Given the description of an element on the screen output the (x, y) to click on. 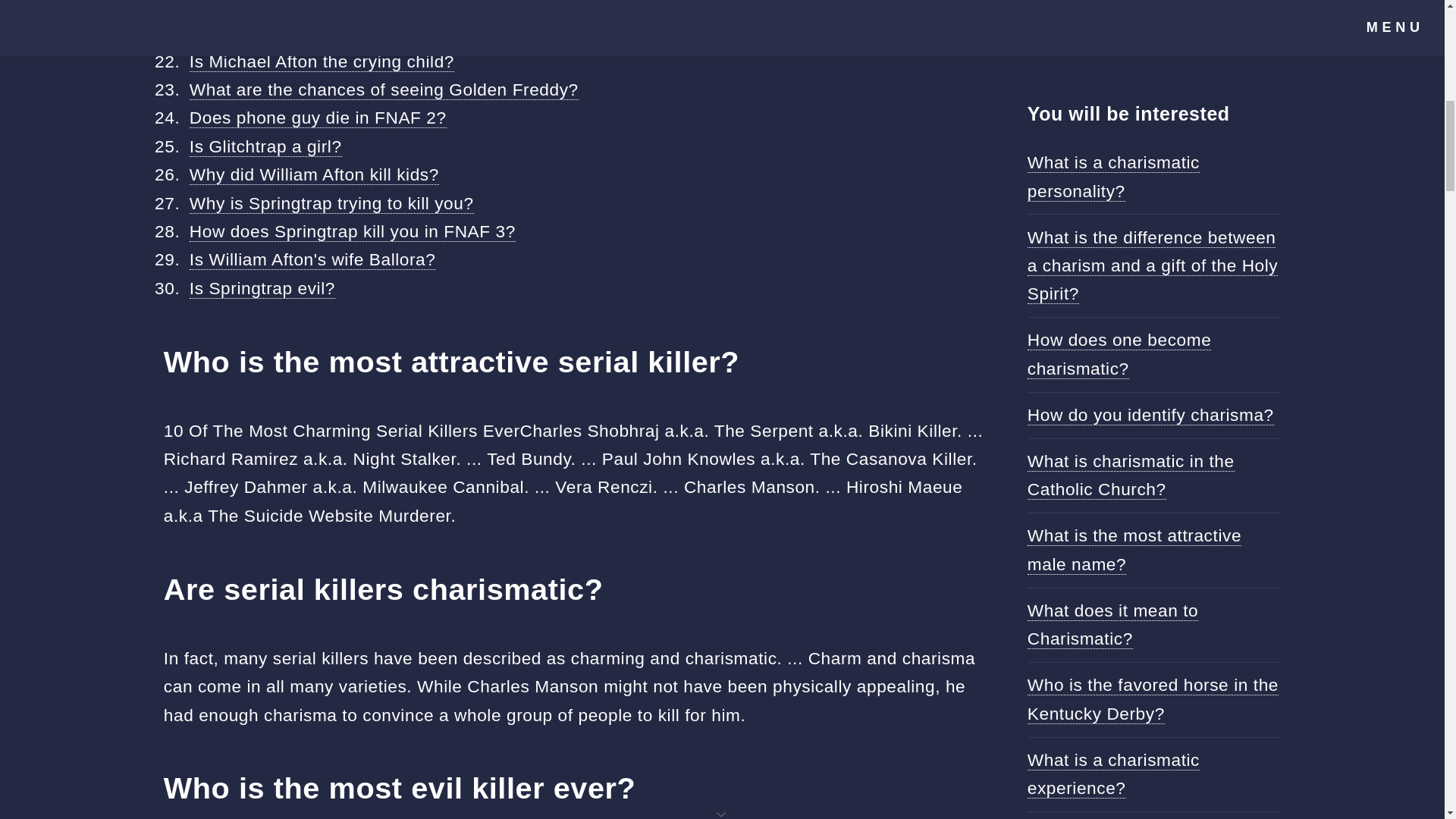
Is Michael Afton the crying child? (321, 61)
How does Springtrap kill you in FNAF 3? (352, 231)
Why did William Afton kill kids? (314, 174)
What happens to phone guy on night 4? (350, 32)
What are the chances of seeing Golden Freddy? (383, 89)
Is Springtrap evil? (261, 288)
Is William Afton's wife Ballora? (312, 259)
Why is Springtrap trying to kill you? (331, 203)
Is Glitchtrap a girl? (265, 146)
Why do the animatronics want to kill you? (355, 7)
Does phone guy die in FNAF 2? (317, 117)
